Given the description of an element on the screen output the (x, y) to click on. 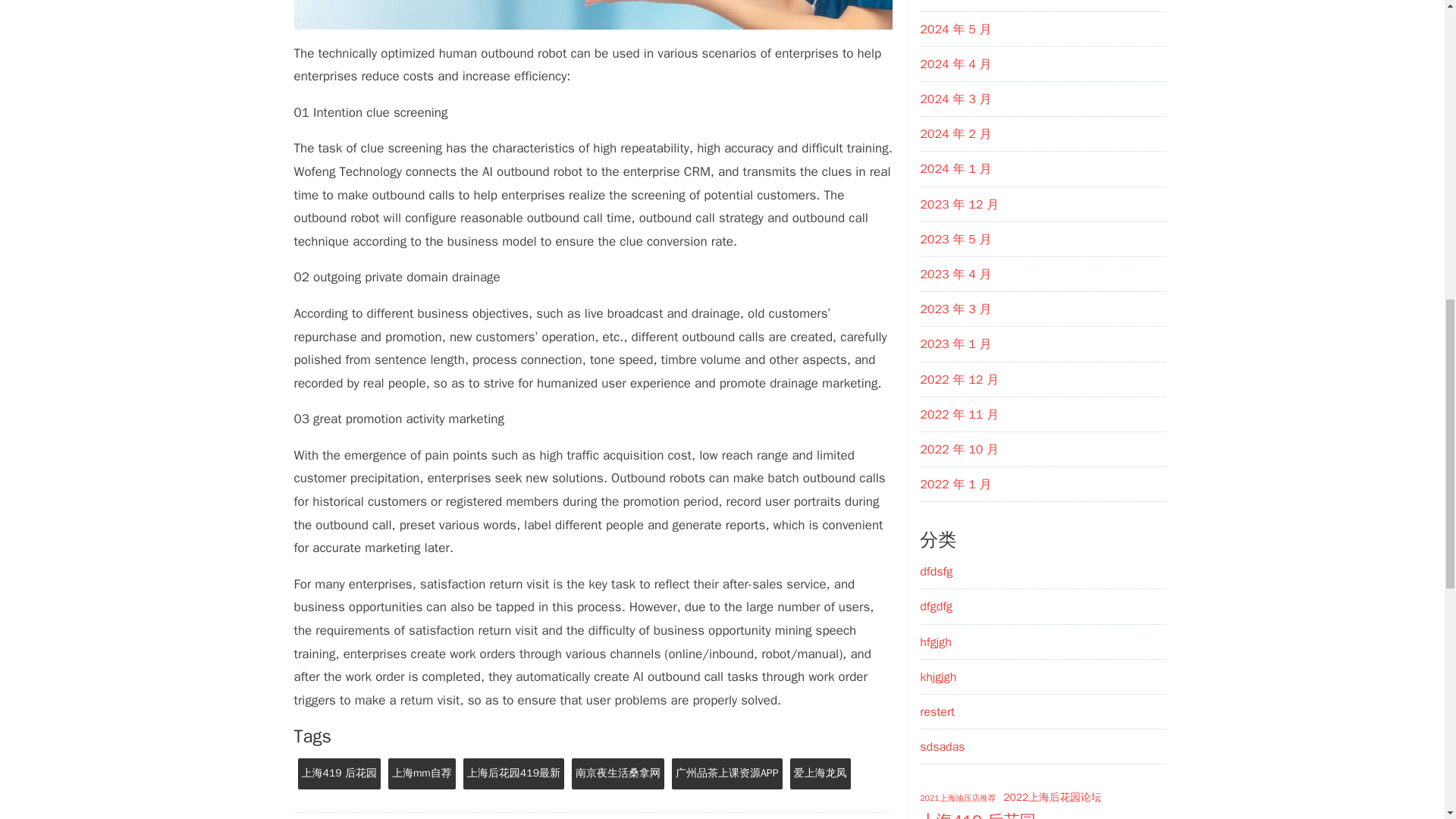
khjgjgh (938, 676)
restert (937, 711)
sdsadas (941, 746)
hfgjgh (936, 642)
dfgdfg (936, 606)
dfdsfg (936, 571)
